Given the description of an element on the screen output the (x, y) to click on. 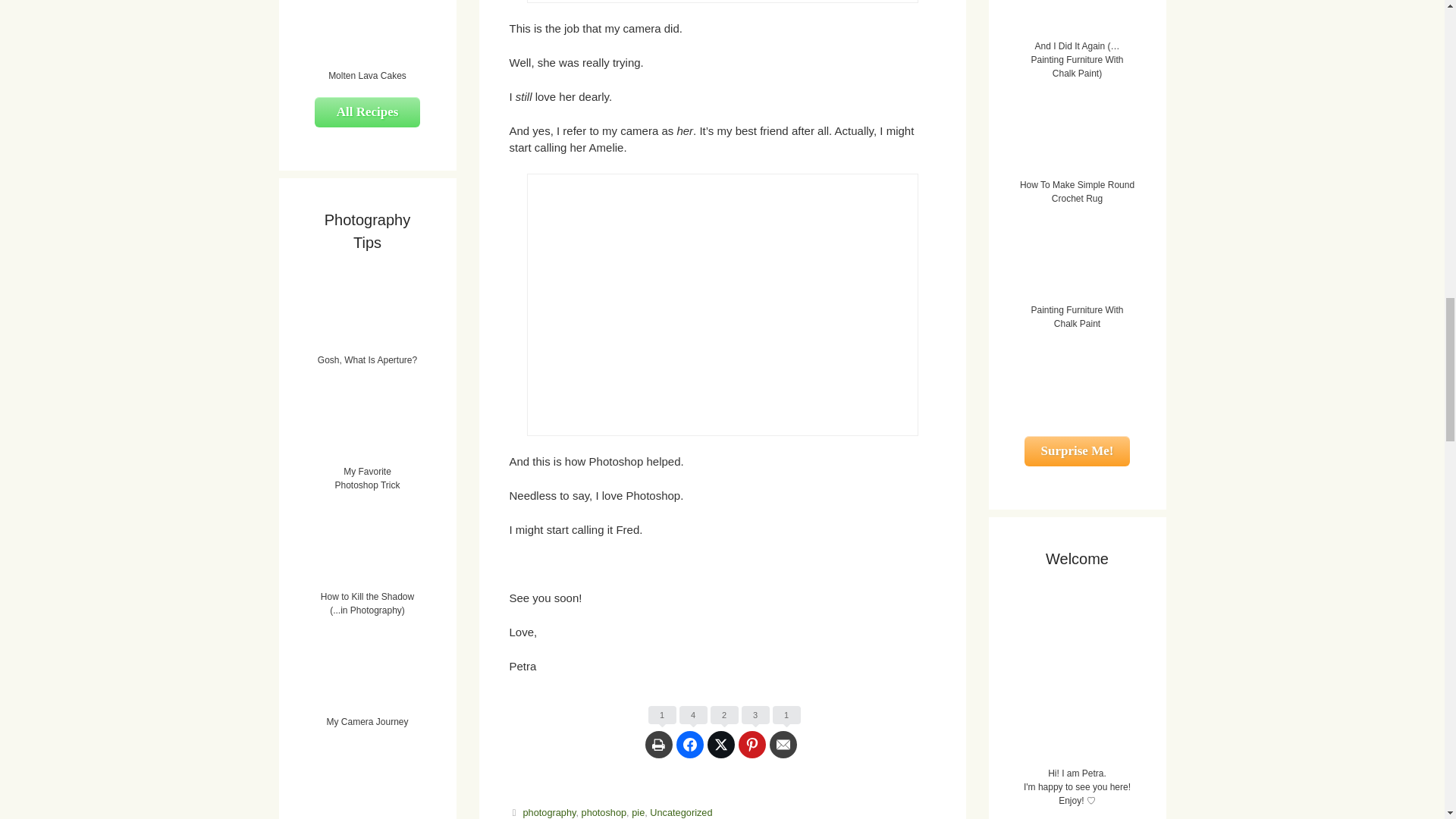
bundt-cake-set (721, 304)
